Given the description of an element on the screen output the (x, y) to click on. 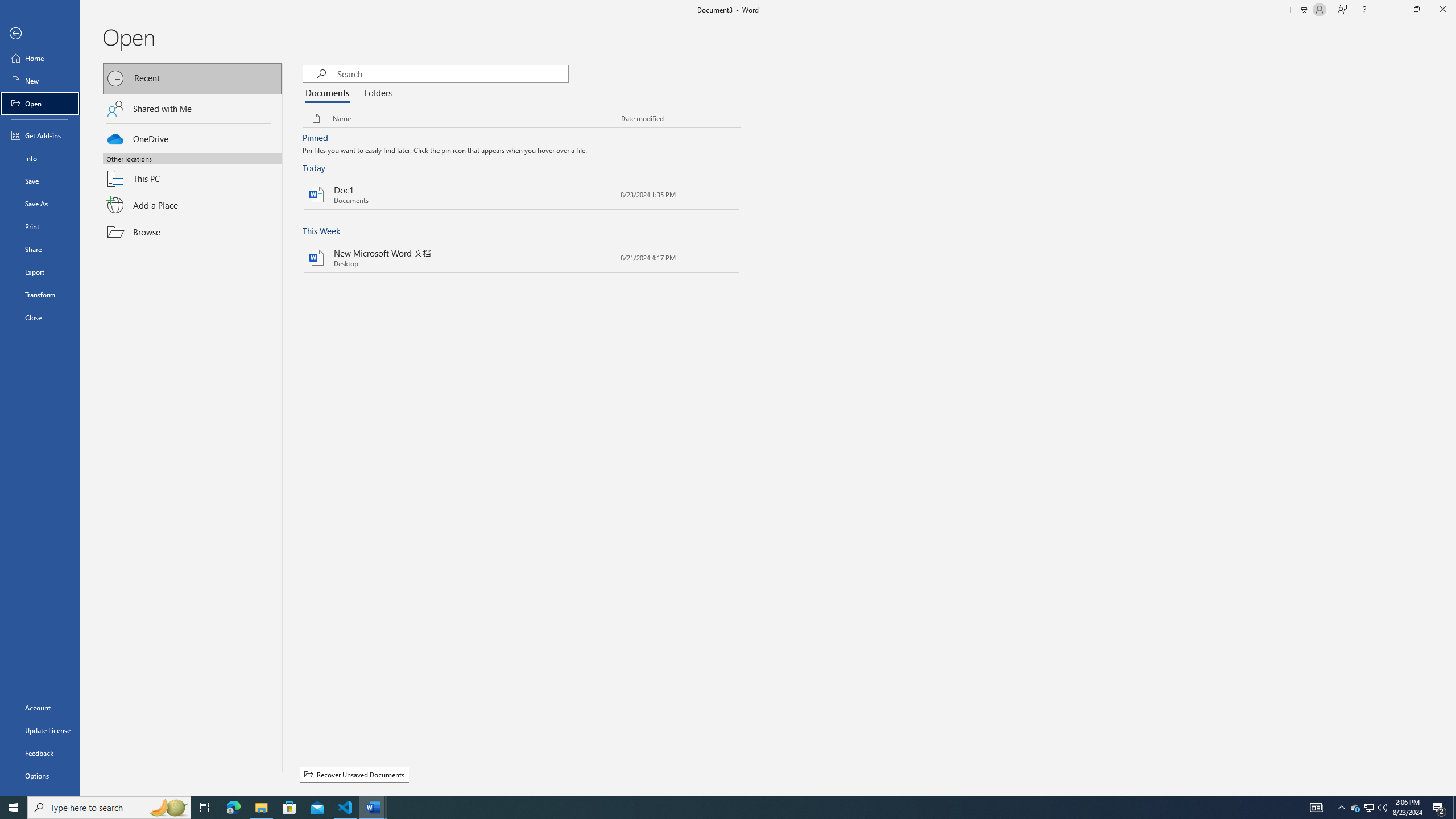
Info (40, 157)
Recent (192, 78)
Options (40, 775)
This PC (192, 171)
New (40, 80)
Folders (375, 93)
Recover Unsaved Documents (354, 774)
Shared with Me (192, 108)
Class: NetUIListViewItem (445, 151)
